Given the description of an element on the screen output the (x, y) to click on. 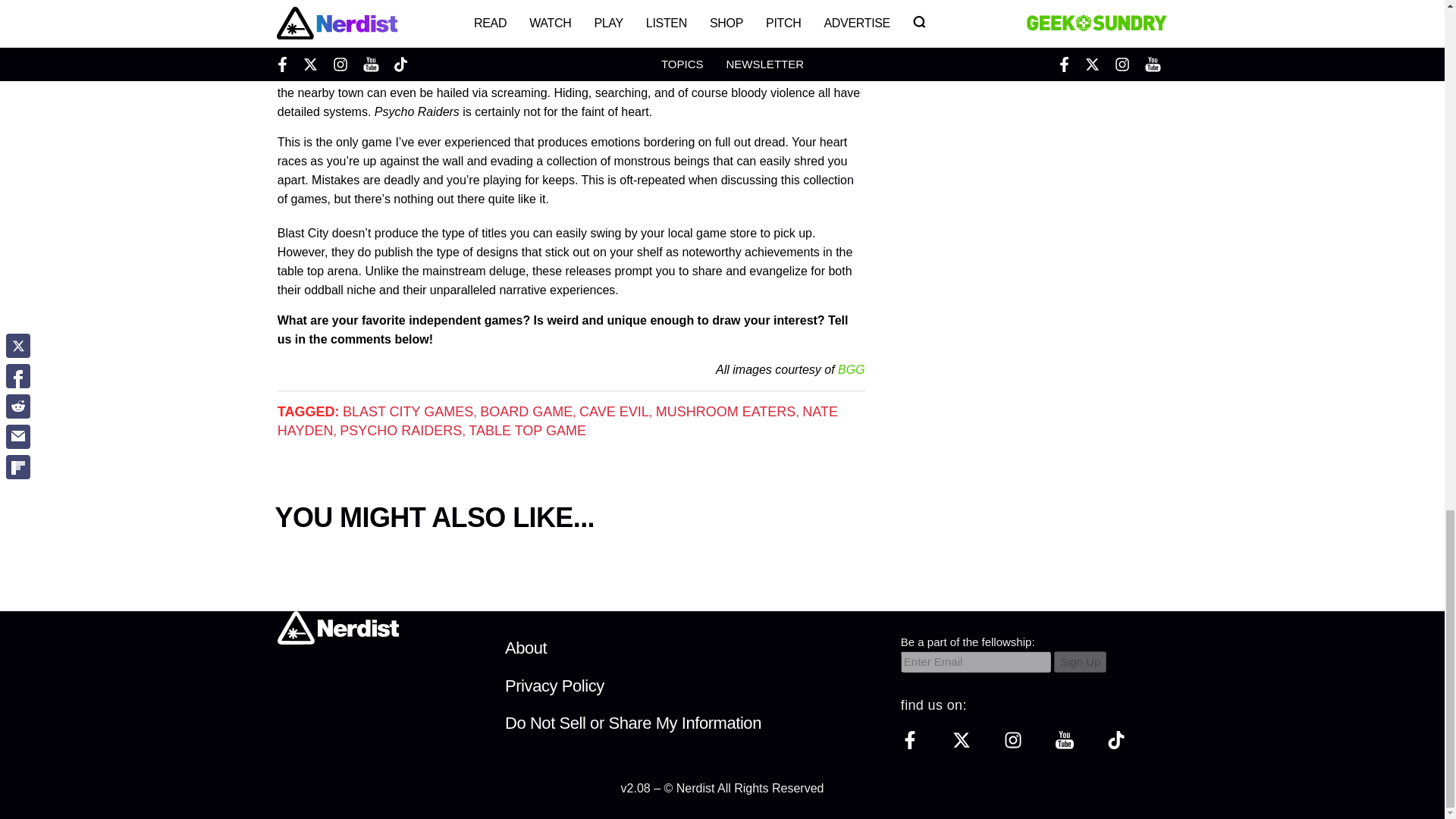
MUSHROOM EATERS (726, 411)
Sign Up (1080, 662)
BLAST CITY GAMES (407, 411)
CAVE EVIL (614, 411)
BOARD GAME (526, 411)
PSYCHO RAIDERS (400, 430)
TABLE TOP GAME (527, 430)
BGG (851, 369)
NATE HAYDEN (558, 421)
